Given the description of an element on the screen output the (x, y) to click on. 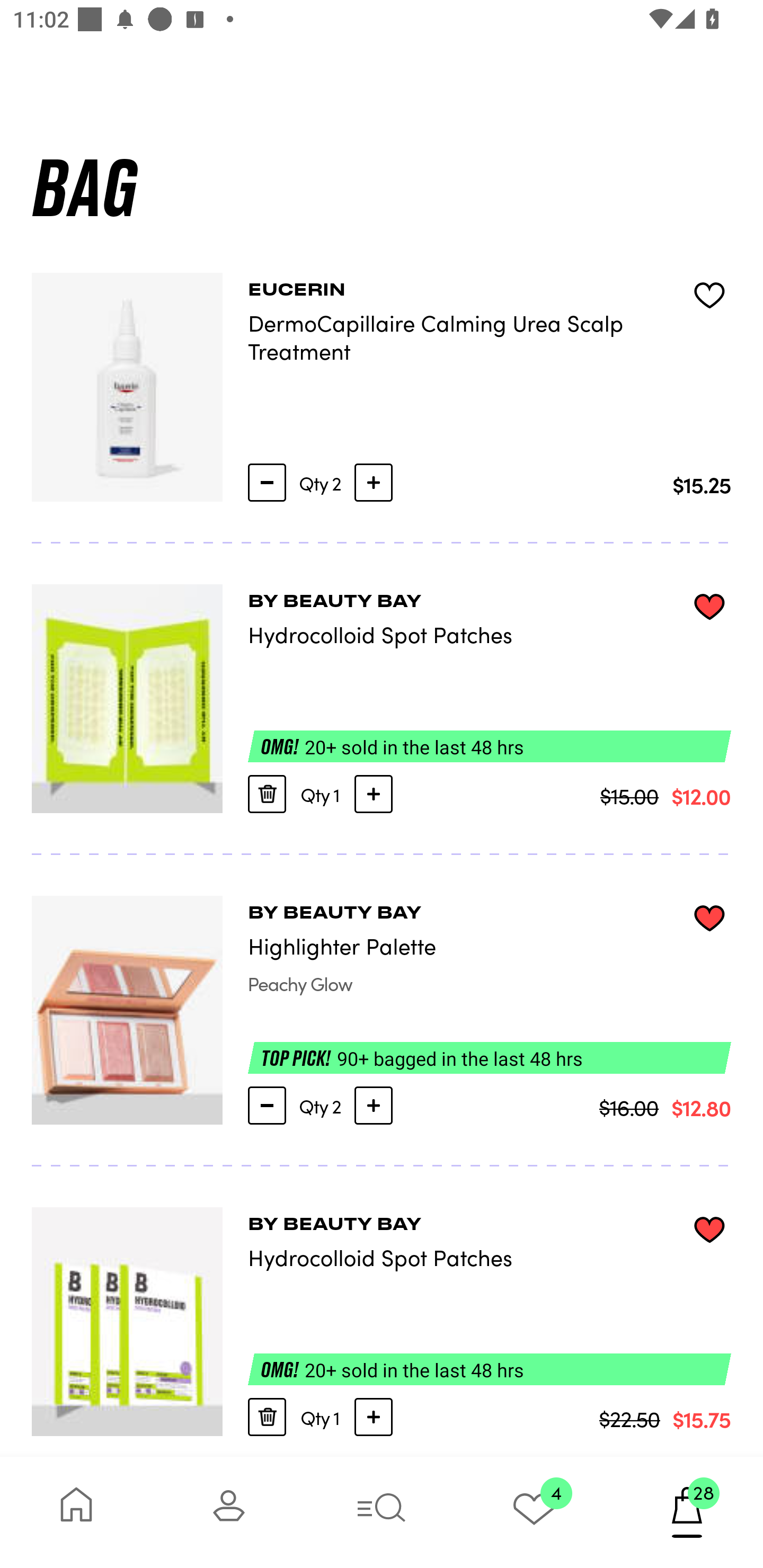
4 (533, 1512)
28 (686, 1512)
